Given the description of an element on the screen output the (x, y) to click on. 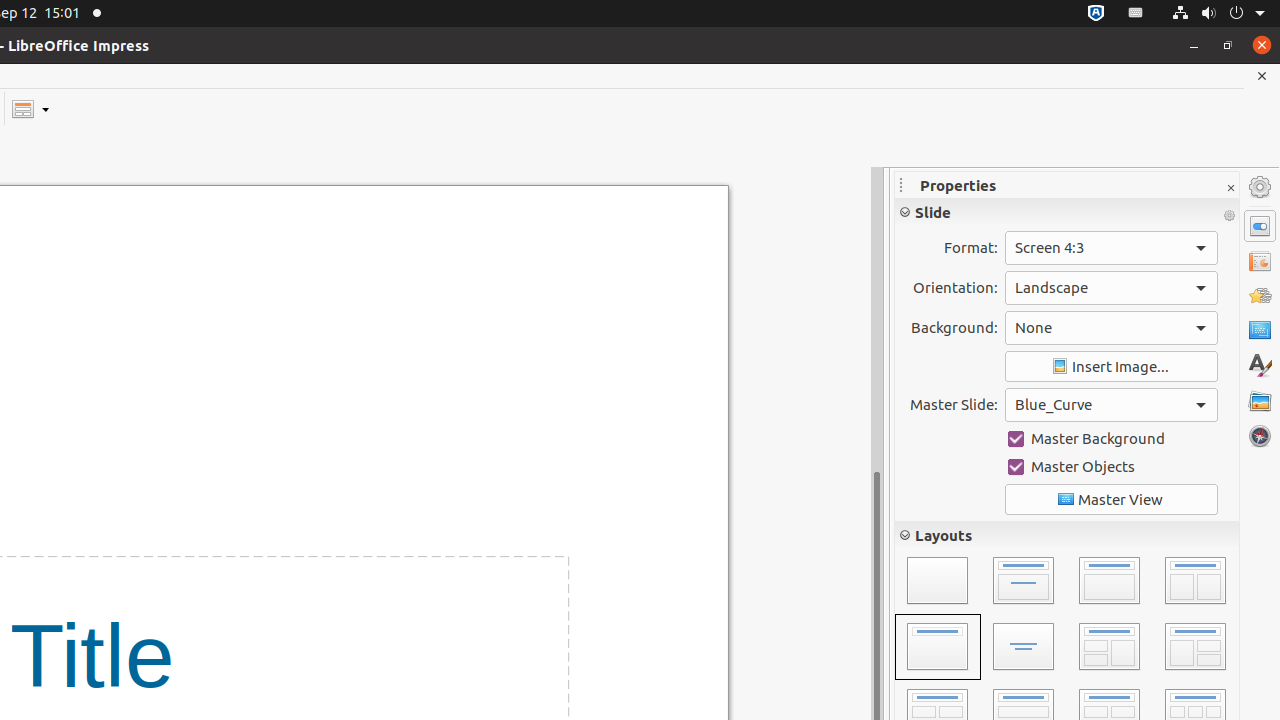
Underline Element type: push-button (969, 293)
Bold Element type: toggle-button (913, 293)
:1.21/StatusNotifierItem Element type: menu (1136, 13)
Hanging Indent Element type: push-button (1132, 487)
Bullets Element type: push-button (919, 680)
